Given the description of an element on the screen output the (x, y) to click on. 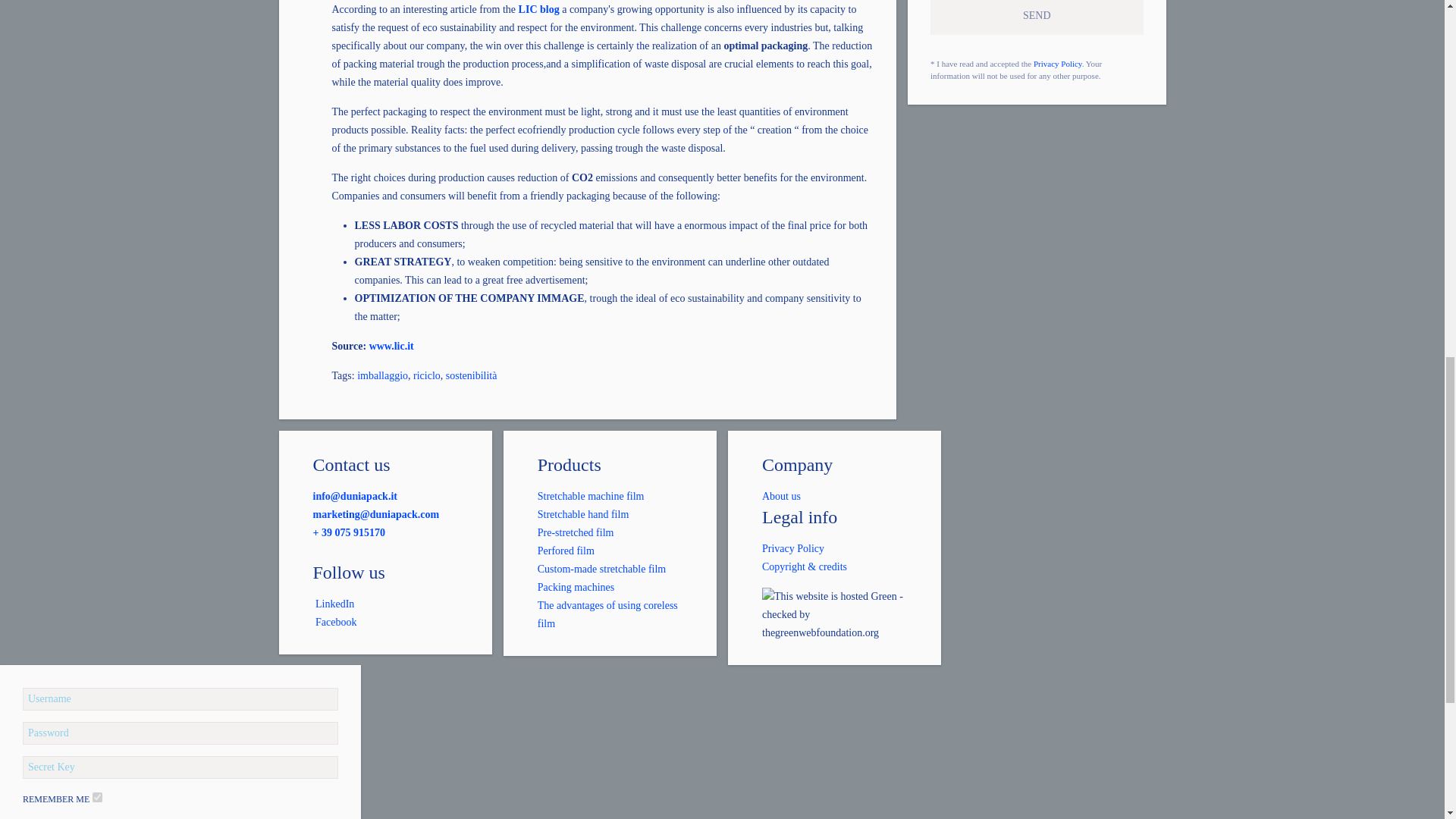
The advantages of using coreless film (607, 614)
Privacy Policy (1057, 62)
Stretchable hand film (582, 514)
Stretchable film packing machines (575, 586)
SEND (1036, 17)
About Dunia Pack (780, 496)
Pre-stretched film (575, 532)
SEND (1036, 17)
yes (97, 797)
DuniaPack Privacy Policy (792, 548)
